Given the description of an element on the screen output the (x, y) to click on. 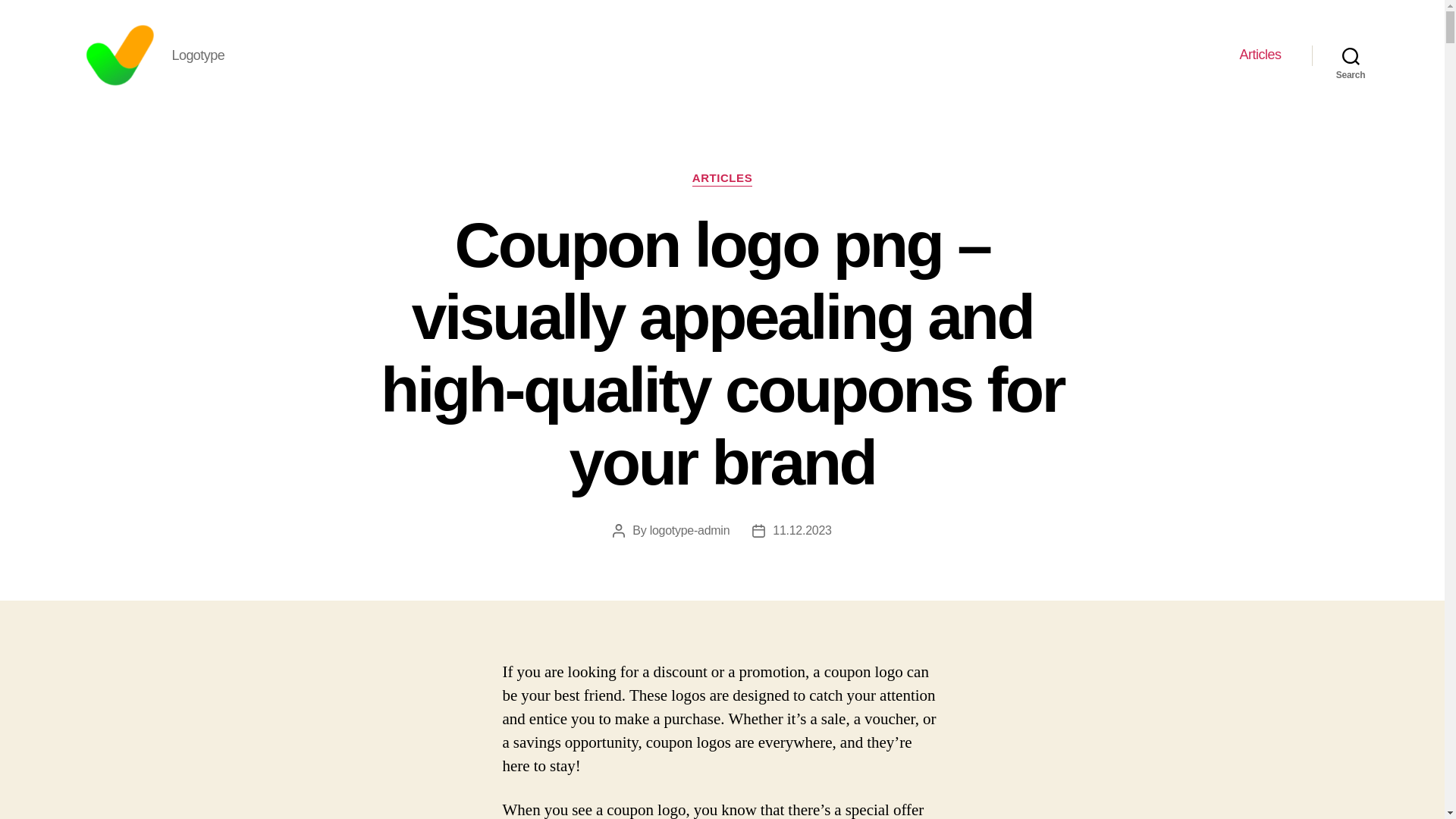
logotype-admin (689, 530)
Search (1350, 55)
11.12.2023 (802, 530)
ARTICLES (722, 178)
Articles (1260, 54)
